Given the description of an element on the screen output the (x, y) to click on. 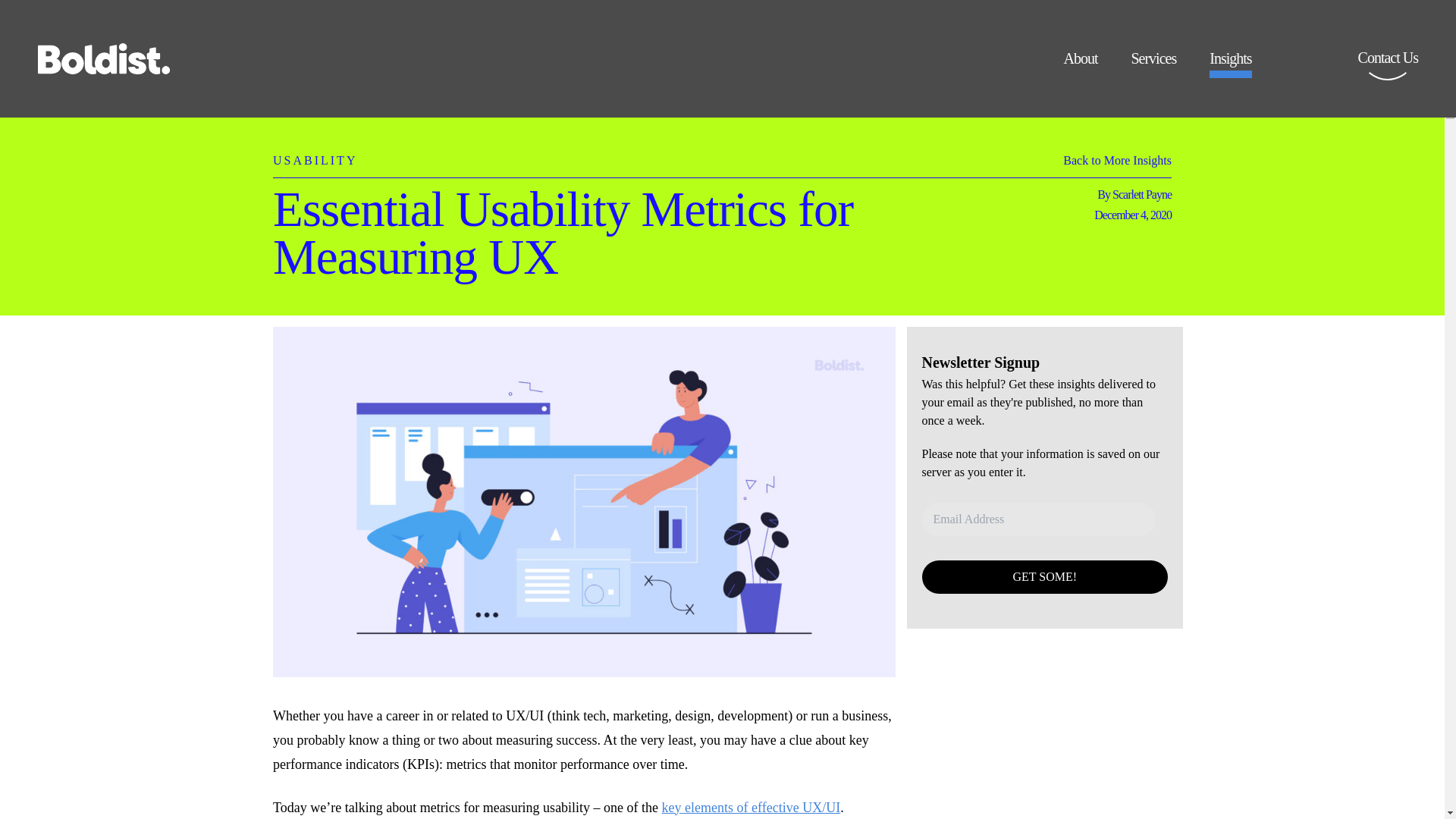
Back to More Insights (1117, 164)
Contact Us (1388, 68)
Scarlett Payne (1142, 194)
Insights (1229, 63)
GET SOME! (1045, 576)
Services (1153, 63)
Posts by Scarlett Payne (1142, 194)
About (1079, 63)
USABILITY (314, 152)
GET SOME! (1045, 576)
